Given the description of an element on the screen output the (x, y) to click on. 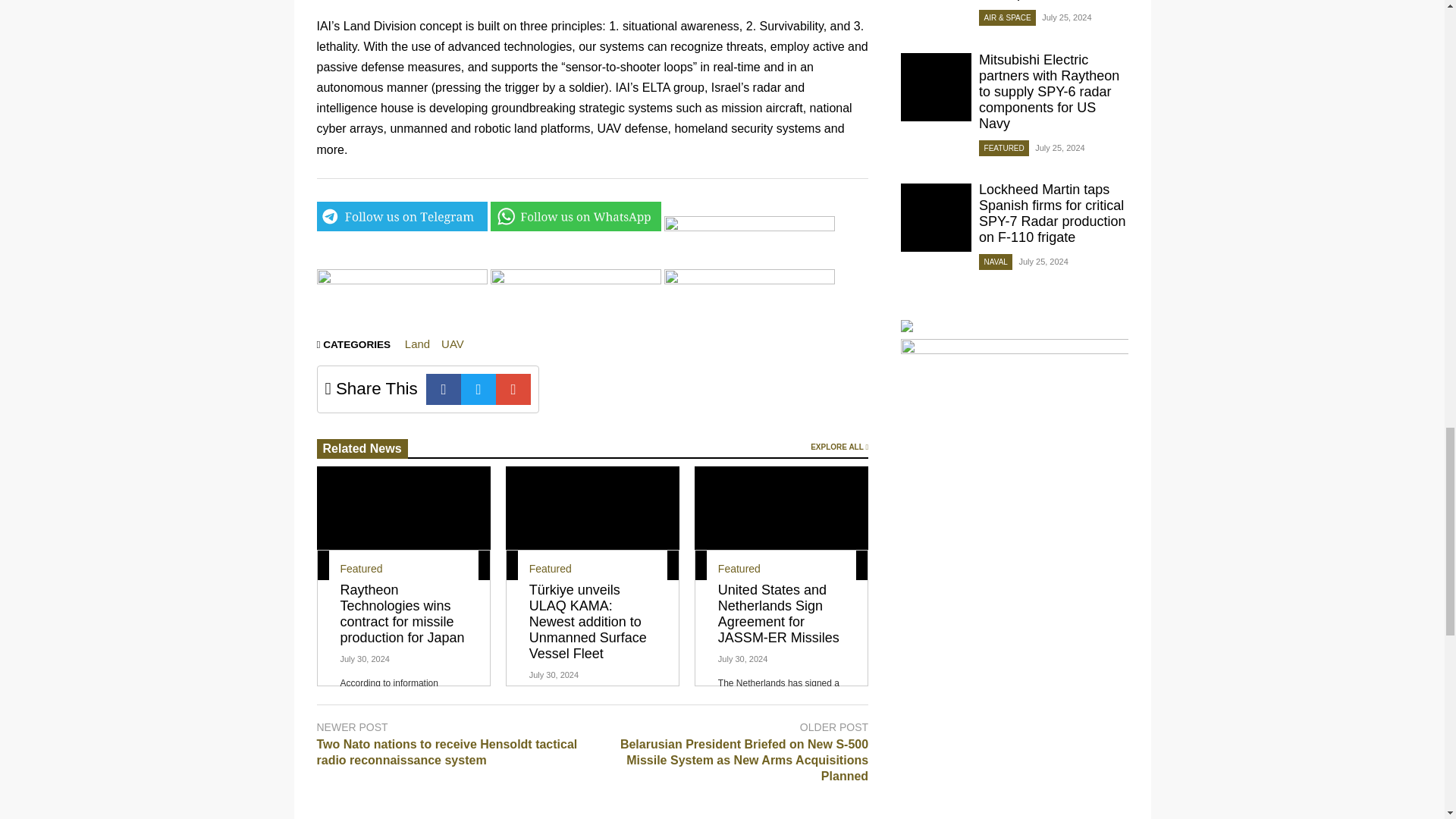
Google-plus (513, 388)
Featured (550, 568)
Facebook (443, 388)
Featured (360, 568)
Twitter (478, 388)
